Given the description of an element on the screen output the (x, y) to click on. 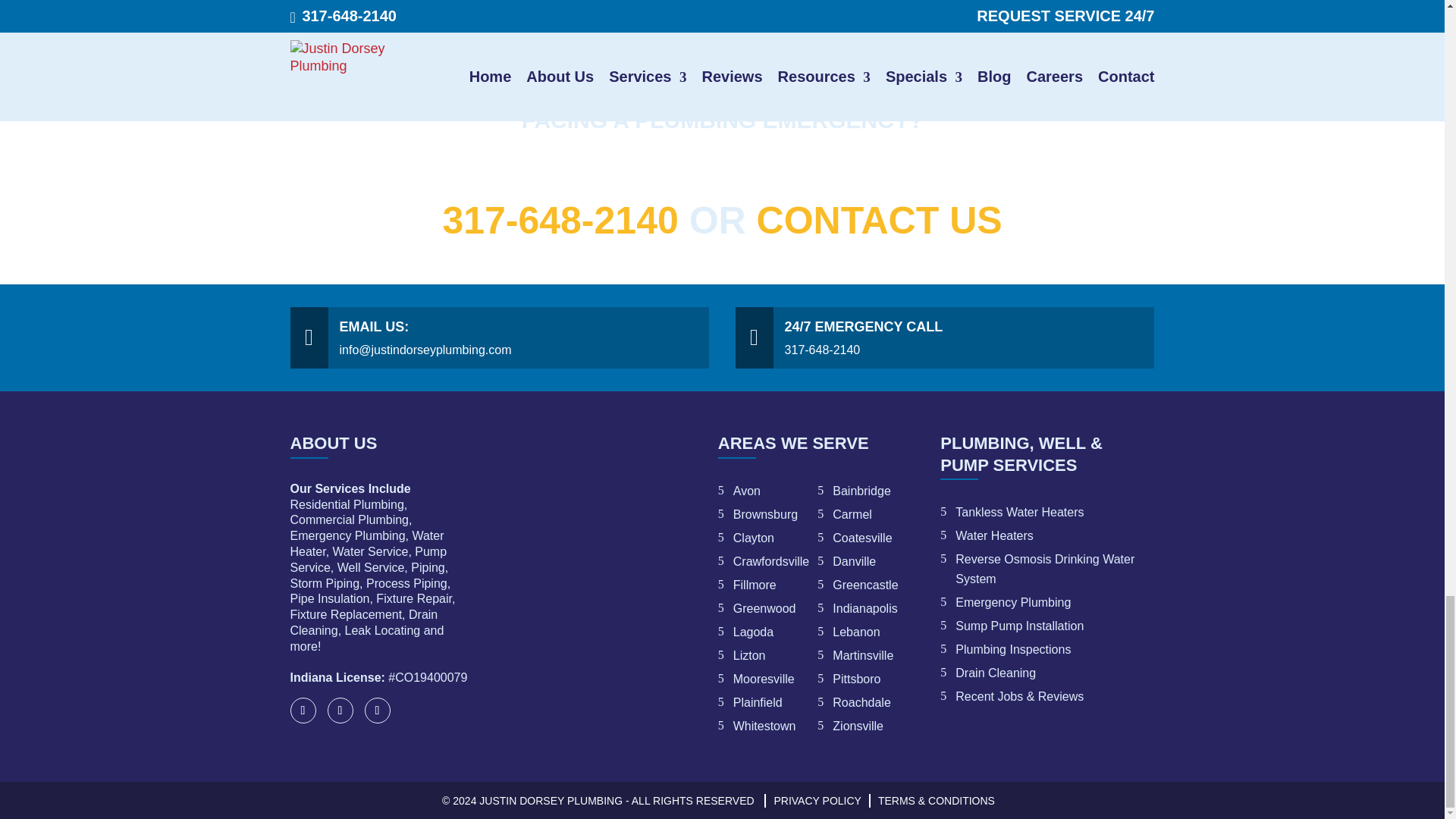
50-off-new (593, 524)
Follow on Instagram (340, 710)
Follow on Facebook (302, 710)
Follow on Youtube (377, 710)
